Given the description of an element on the screen output the (x, y) to click on. 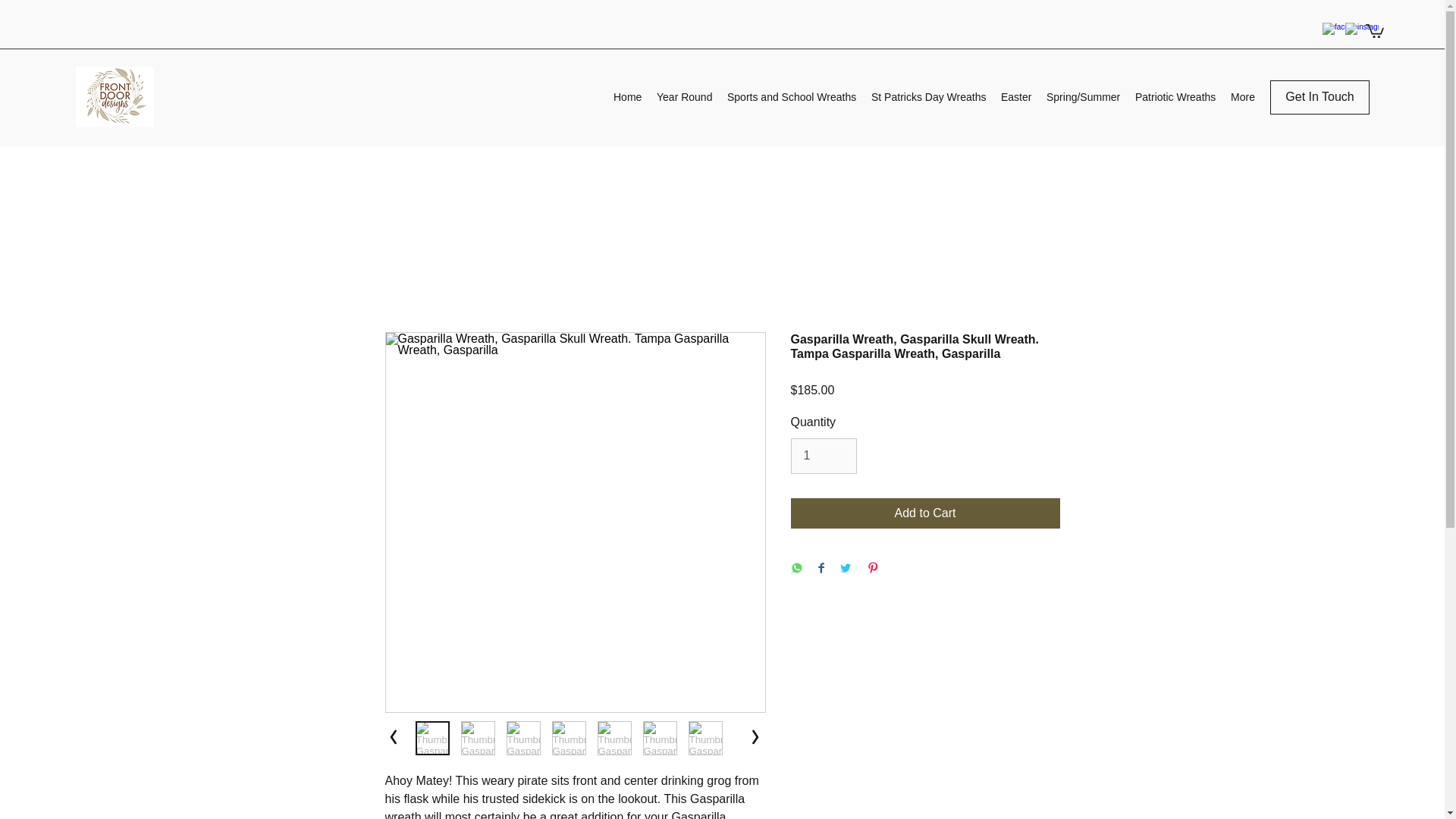
Home (627, 96)
Year Round (684, 96)
Add to Cart (924, 512)
Sports and School Wreaths (791, 96)
1 (823, 455)
Patriotic Wreaths (1174, 96)
Easter (1015, 96)
Get In Touch (1319, 97)
St Patricks Day Wreaths (927, 96)
